Given the description of an element on the screen output the (x, y) to click on. 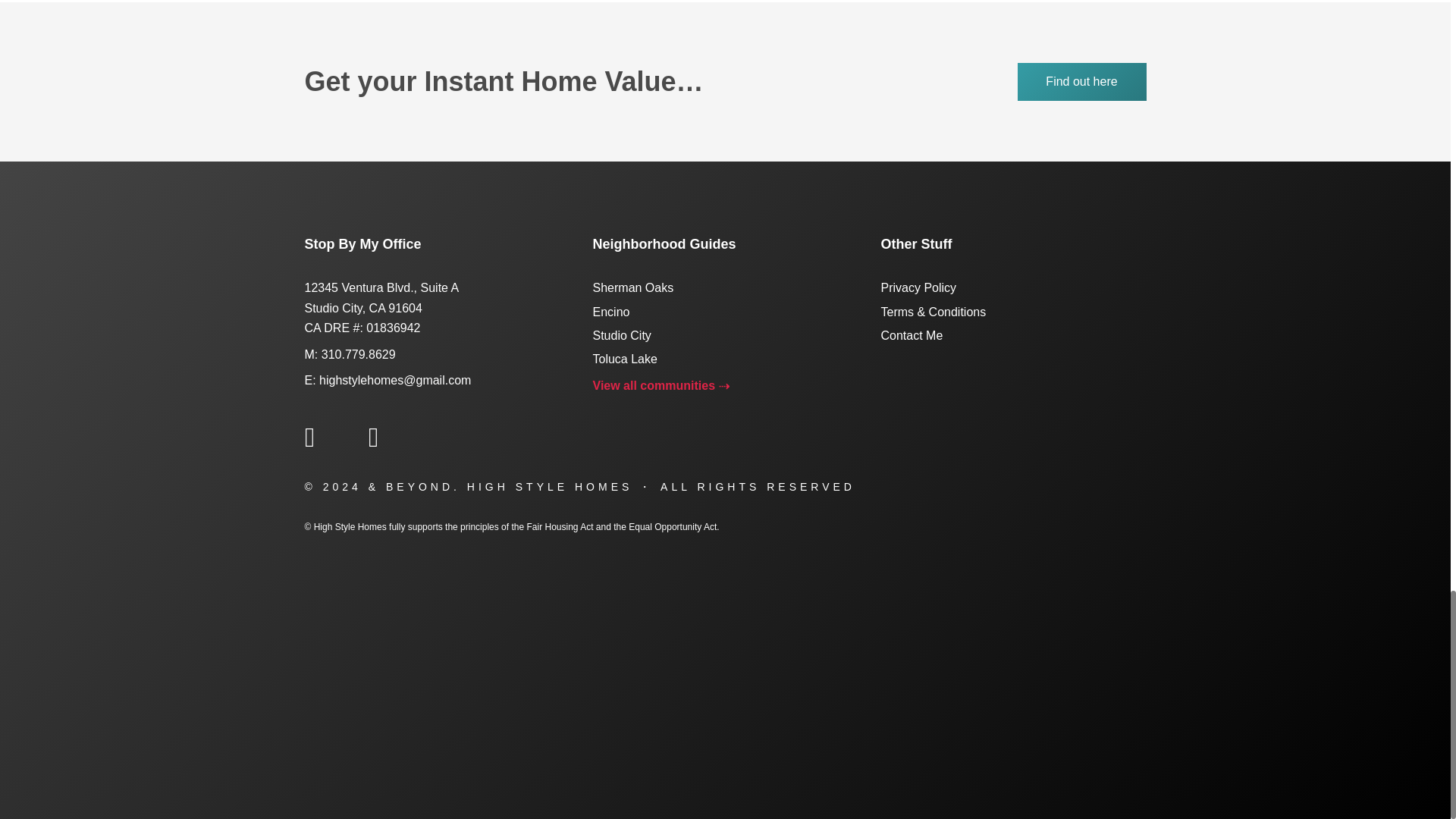
Studio City (621, 335)
Toluca Lake (625, 358)
Encino (611, 311)
310.779.8629 (358, 354)
Find out here (1082, 82)
Privacy Policy (918, 287)
Contact Me (911, 335)
Sherman Oaks (633, 287)
